Given the description of an element on the screen output the (x, y) to click on. 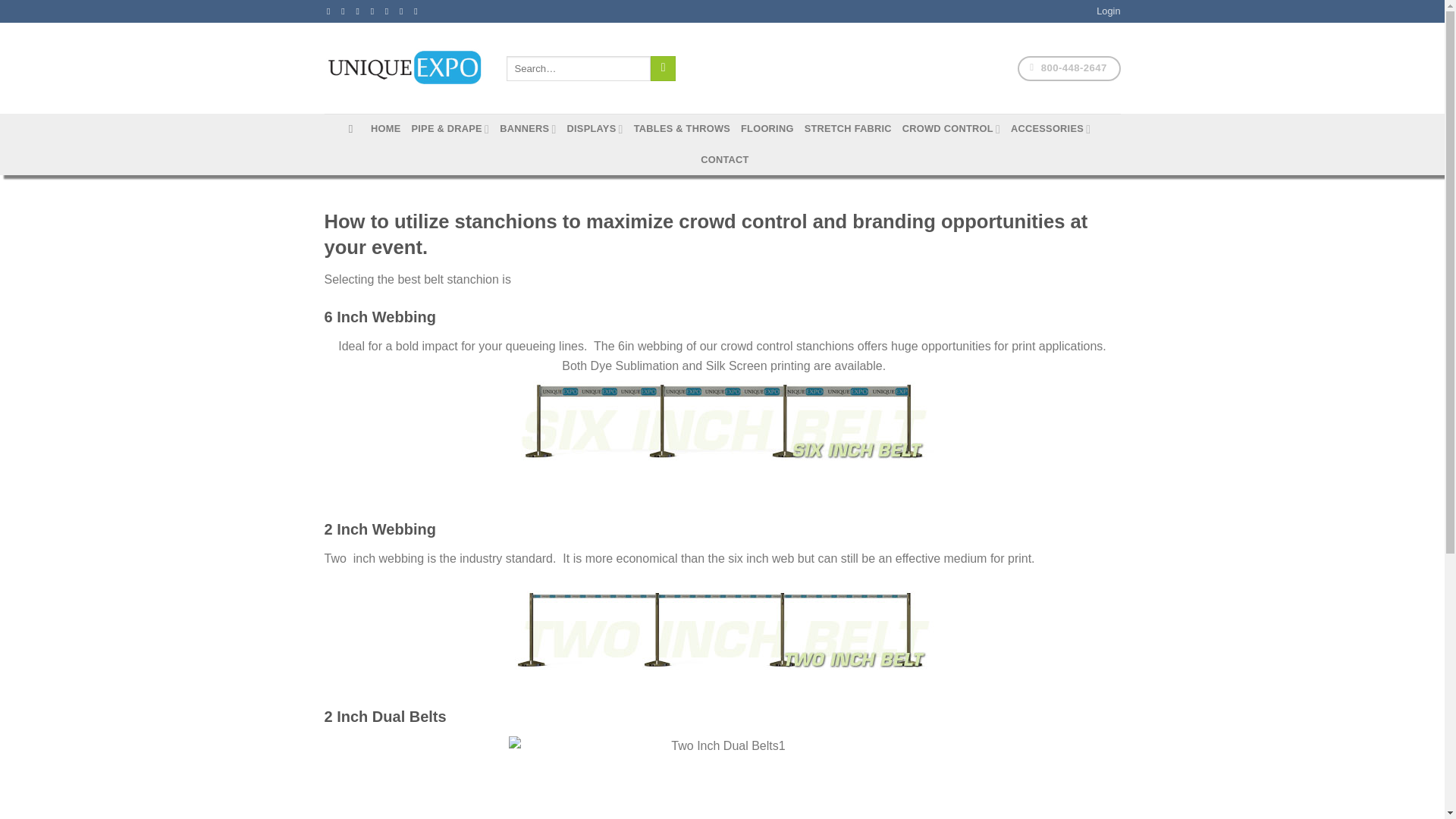
HOME (385, 128)
Two-Inch-Dual-Belts (722, 777)
Search (662, 68)
BANNERS (527, 128)
Login (1107, 11)
800-448-2647 (1068, 68)
Six-Inch-Stanchion (722, 420)
DISPLAYS (595, 128)
Trade Show Flooring (767, 128)
Two-Inch-Belt (722, 629)
